Given the description of an element on the screen output the (x, y) to click on. 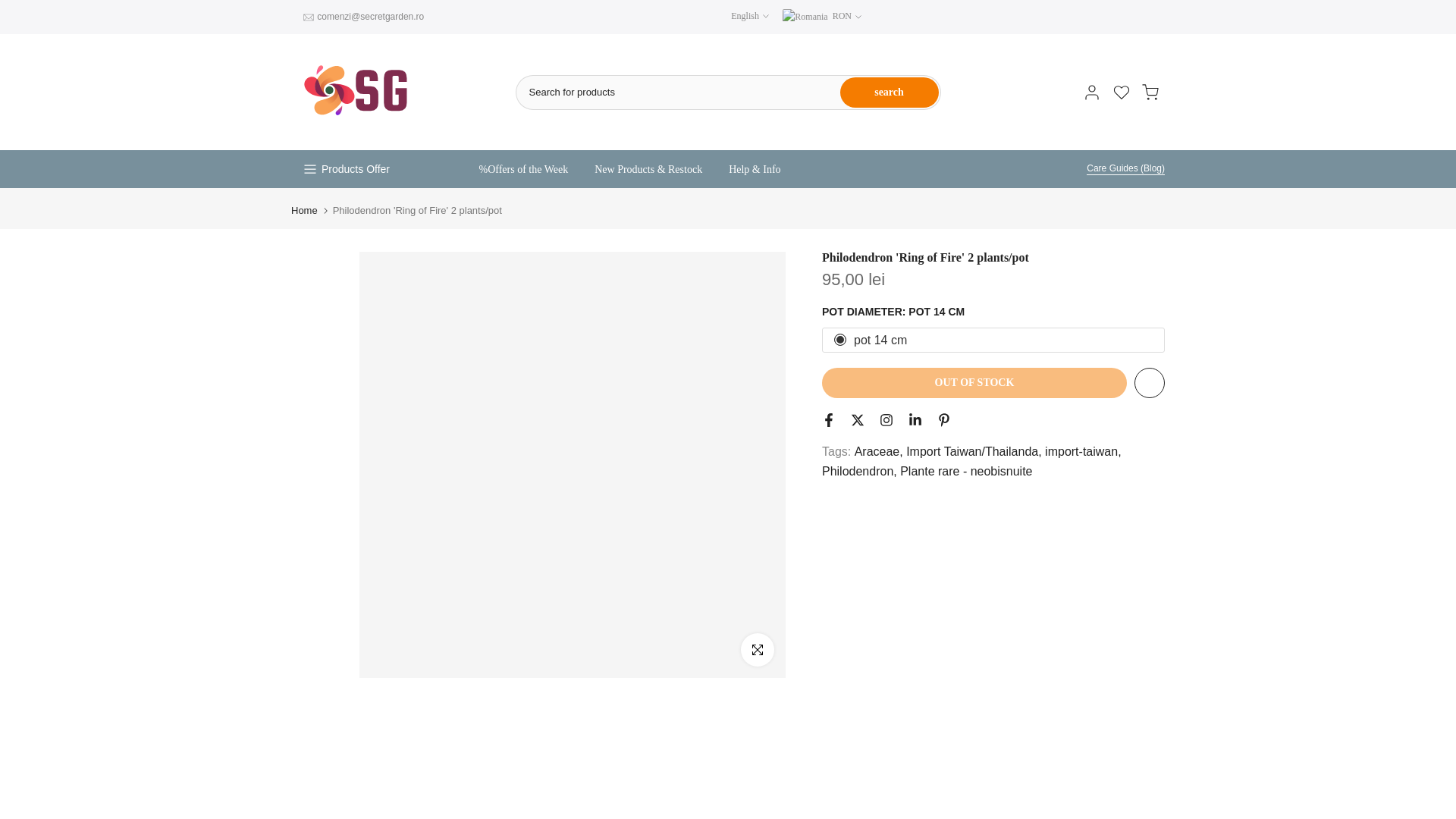
Follow on Instagram (886, 419)
Follow on Facebook (828, 419)
English (749, 15)
RON (822, 16)
search (889, 91)
Follow on Linkedin (914, 419)
Skip to content (10, 7)
Follow on Twitter (857, 419)
Follow on Pinterest (943, 419)
